Given the description of an element on the screen output the (x, y) to click on. 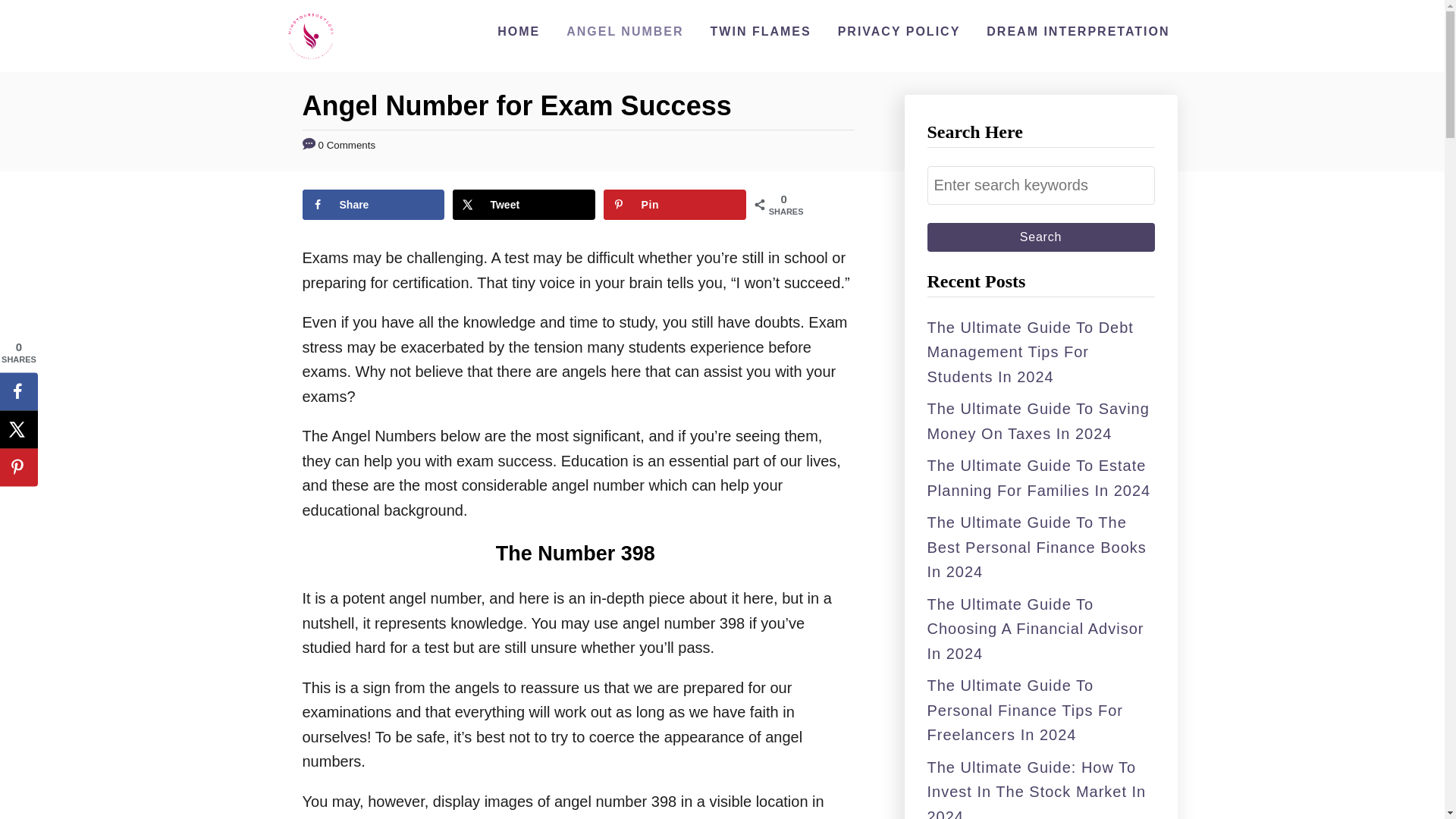
Search (1040, 236)
The Ultimate Guide To Saving Money On Taxes In 2024 (1037, 421)
Search for: (1040, 185)
The Ultimate Guide To Estate Planning For Families In 2024 (1038, 477)
Pin (674, 204)
Save to Pinterest (18, 466)
Mind Your Body Soul (310, 35)
Save to Pinterest (674, 204)
DREAM INTERPRETATION (1077, 31)
ANGEL NUMBER (624, 31)
Search (1040, 236)
